Given the description of an element on the screen output the (x, y) to click on. 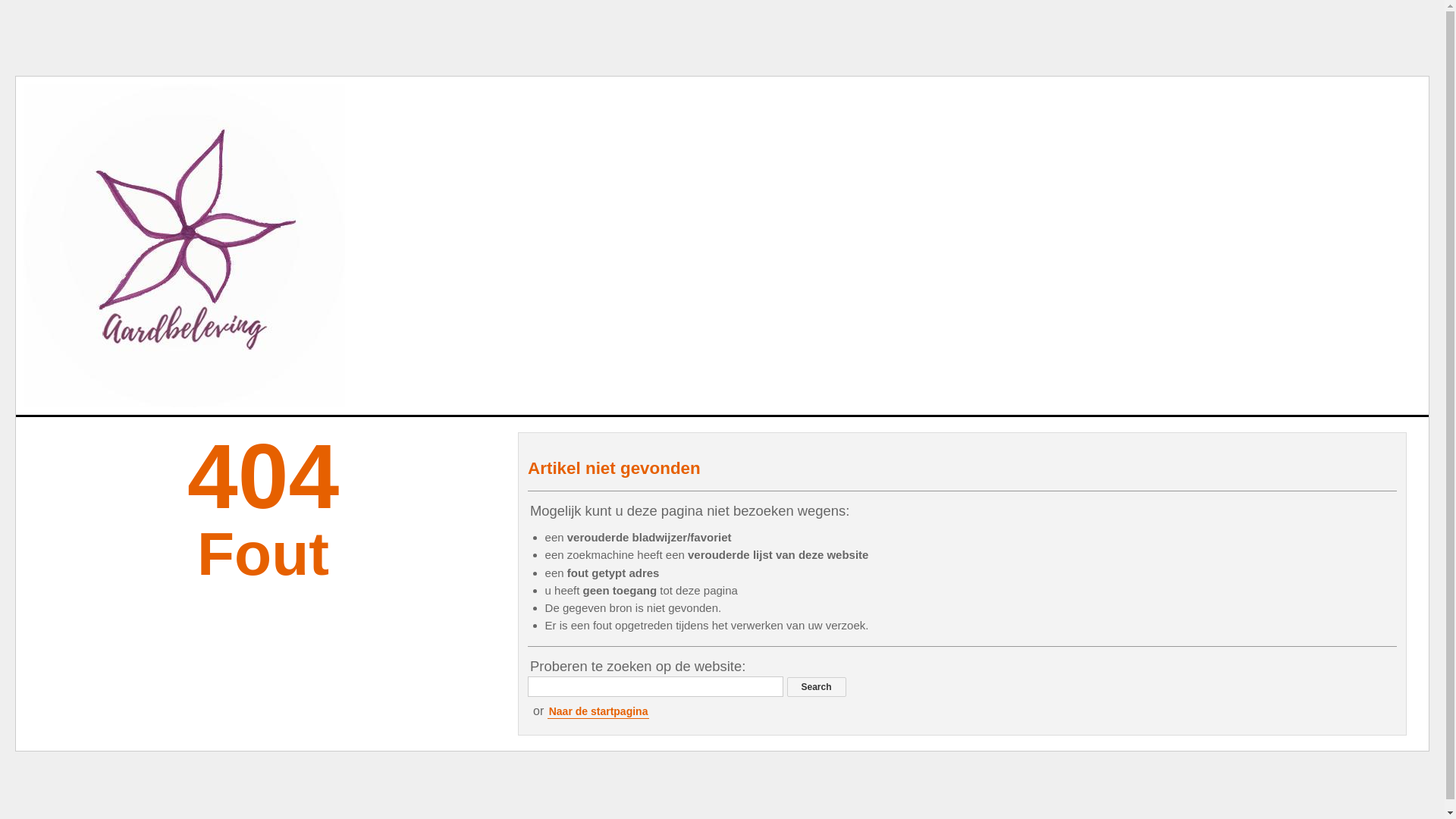
Naar de startpagina Element type: text (598, 711)
Search Element type: text (816, 686)
.:In kracht floreren:. Element type: hover (184, 245)
